Given the description of an element on the screen output the (x, y) to click on. 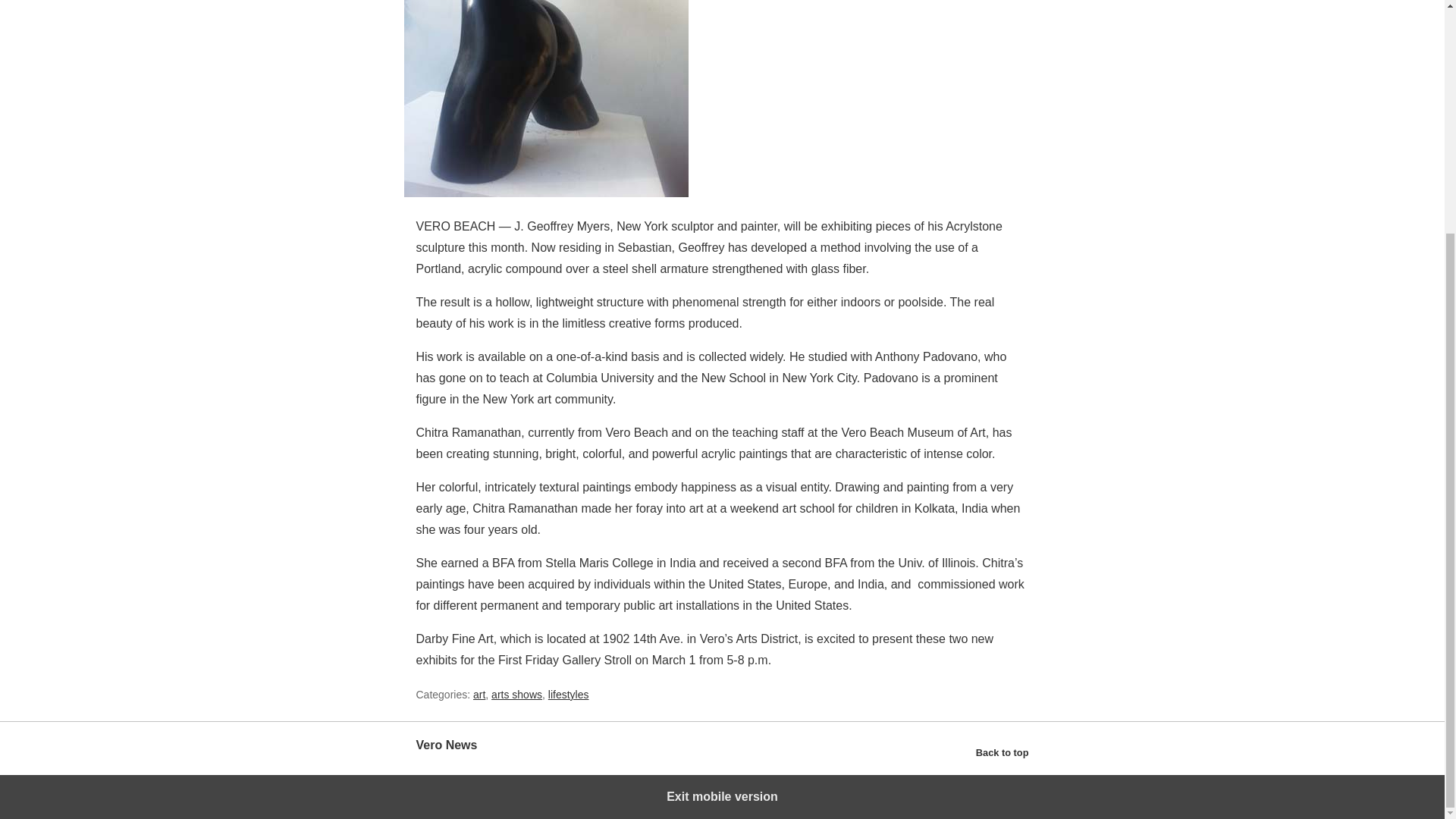
lifestyles (568, 694)
arts shows (516, 694)
Back to top (1002, 752)
art (478, 694)
